Given the description of an element on the screen output the (x, y) to click on. 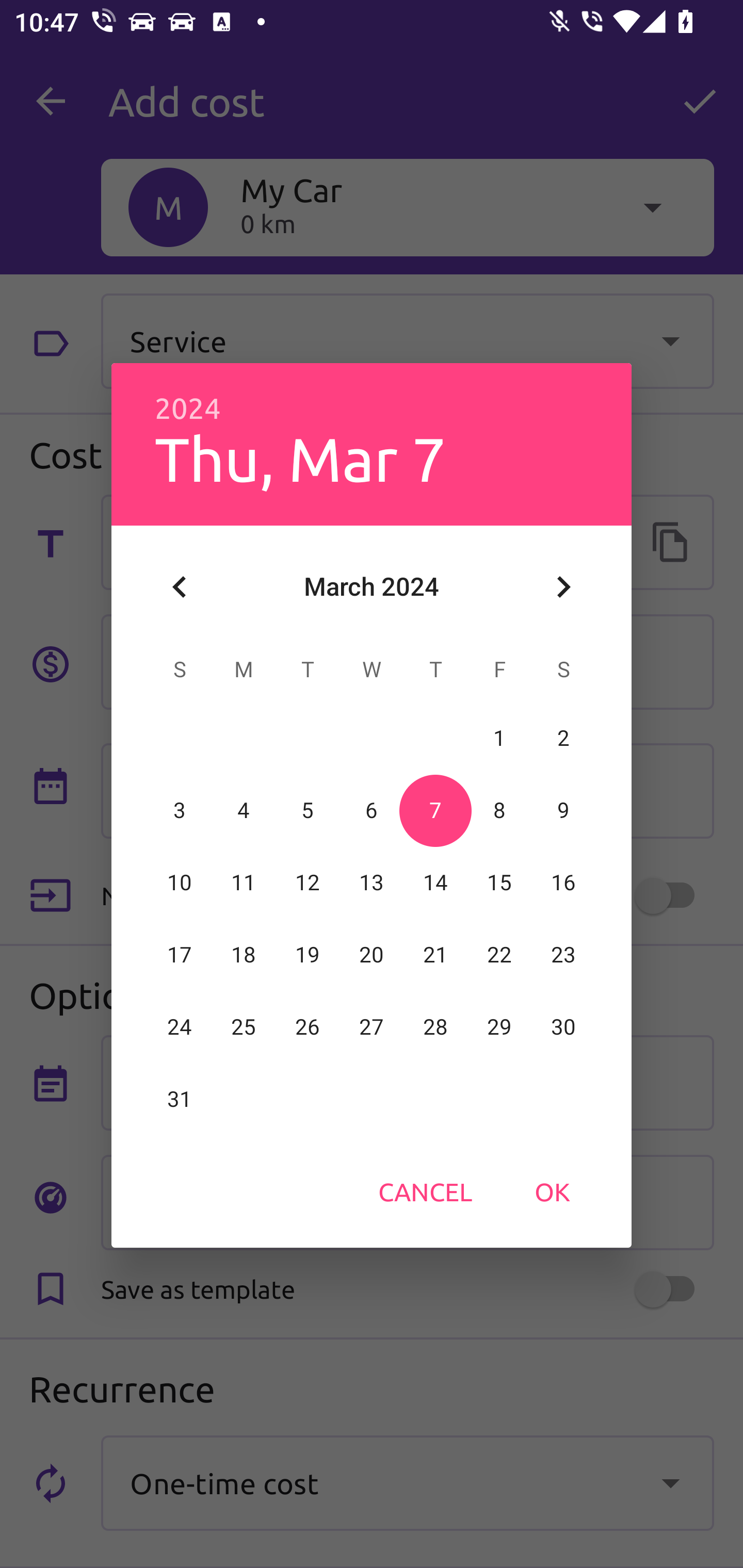
2024 (187, 408)
Thu, Mar 7 (300, 458)
Previous month (178, 587)
Next month (563, 587)
1 01 March 2024 (499, 738)
2 02 March 2024 (563, 738)
3 03 March 2024 (179, 810)
4 04 March 2024 (243, 810)
5 05 March 2024 (307, 810)
6 06 March 2024 (371, 810)
7 07 March 2024 (435, 810)
8 08 March 2024 (499, 810)
9 09 March 2024 (563, 810)
10 10 March 2024 (179, 882)
11 11 March 2024 (243, 882)
12 12 March 2024 (307, 882)
13 13 March 2024 (371, 882)
14 14 March 2024 (435, 882)
15 15 March 2024 (499, 882)
16 16 March 2024 (563, 882)
17 17 March 2024 (179, 954)
18 18 March 2024 (243, 954)
19 19 March 2024 (307, 954)
20 20 March 2024 (371, 954)
21 21 March 2024 (435, 954)
22 22 March 2024 (499, 954)
23 23 March 2024 (563, 954)
24 24 March 2024 (179, 1026)
25 25 March 2024 (243, 1026)
26 26 March 2024 (307, 1026)
27 27 March 2024 (371, 1026)
28 28 March 2024 (435, 1026)
29 29 March 2024 (499, 1026)
30 30 March 2024 (563, 1026)
31 31 March 2024 (179, 1099)
CANCEL (425, 1191)
OK (552, 1191)
